Given the description of an element on the screen output the (x, y) to click on. 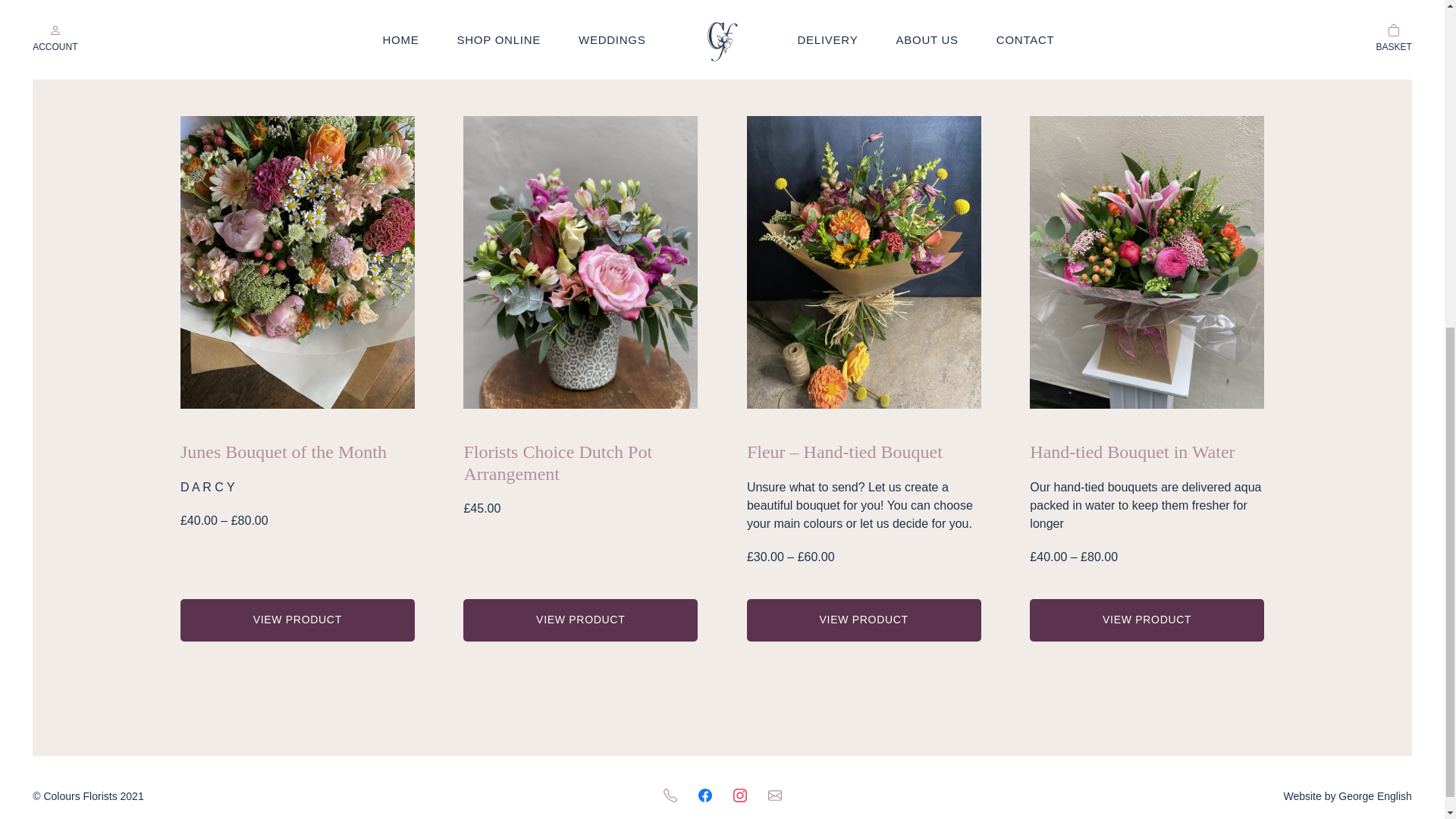
VIEW PRODUCT (580, 619)
01952 728344 (871, 47)
Website by George English (1346, 796)
VIEW PRODUCT (1146, 619)
VIEW PRODUCT (863, 619)
VIEW PRODUCT (297, 619)
